Given the description of an element on the screen output the (x, y) to click on. 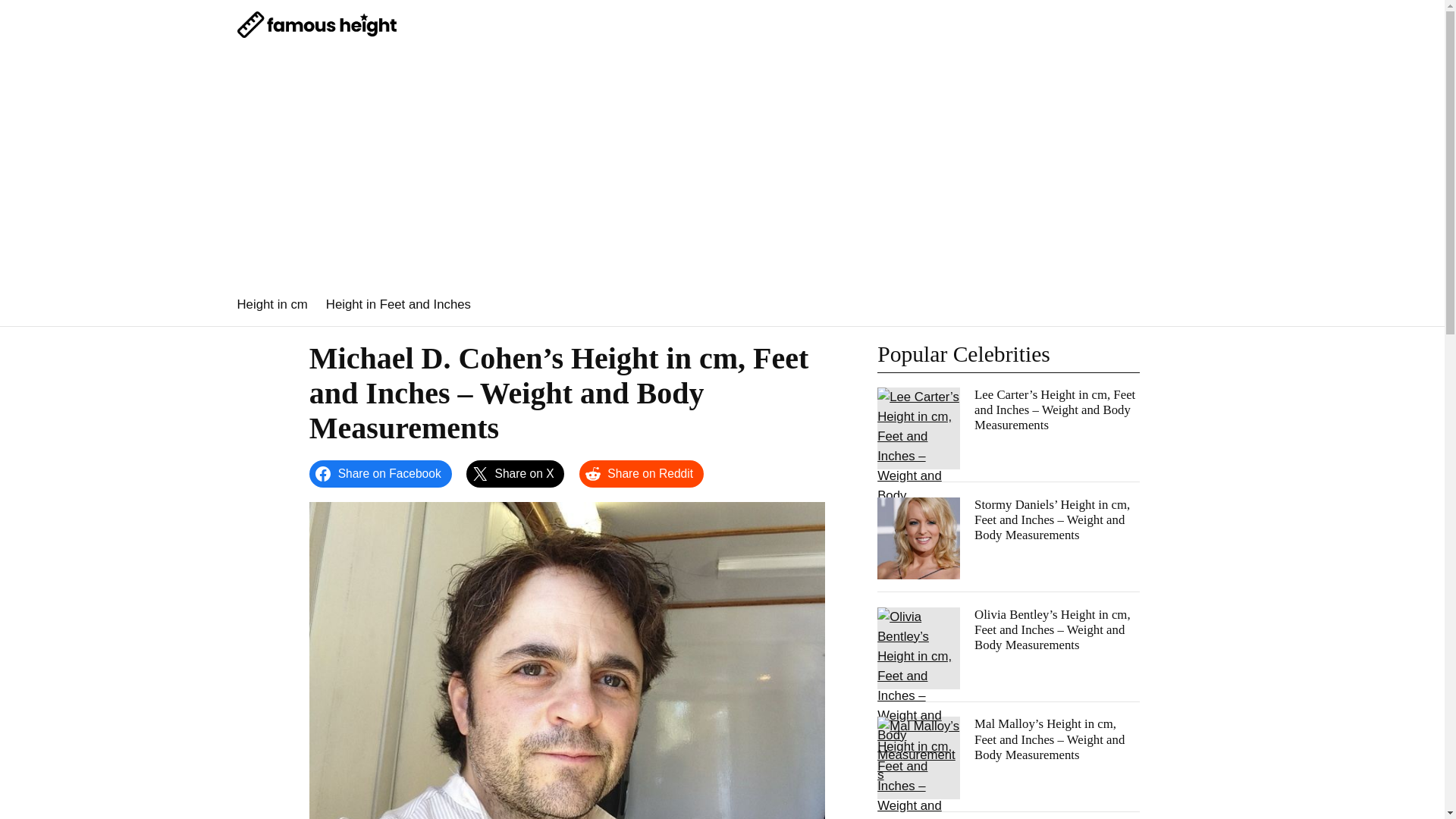
Share on Reddit (641, 473)
Height in Feet and Inches (398, 304)
Height in cm (271, 304)
Share on Facebook (379, 473)
Share on X (514, 473)
